Given the description of an element on the screen output the (x, y) to click on. 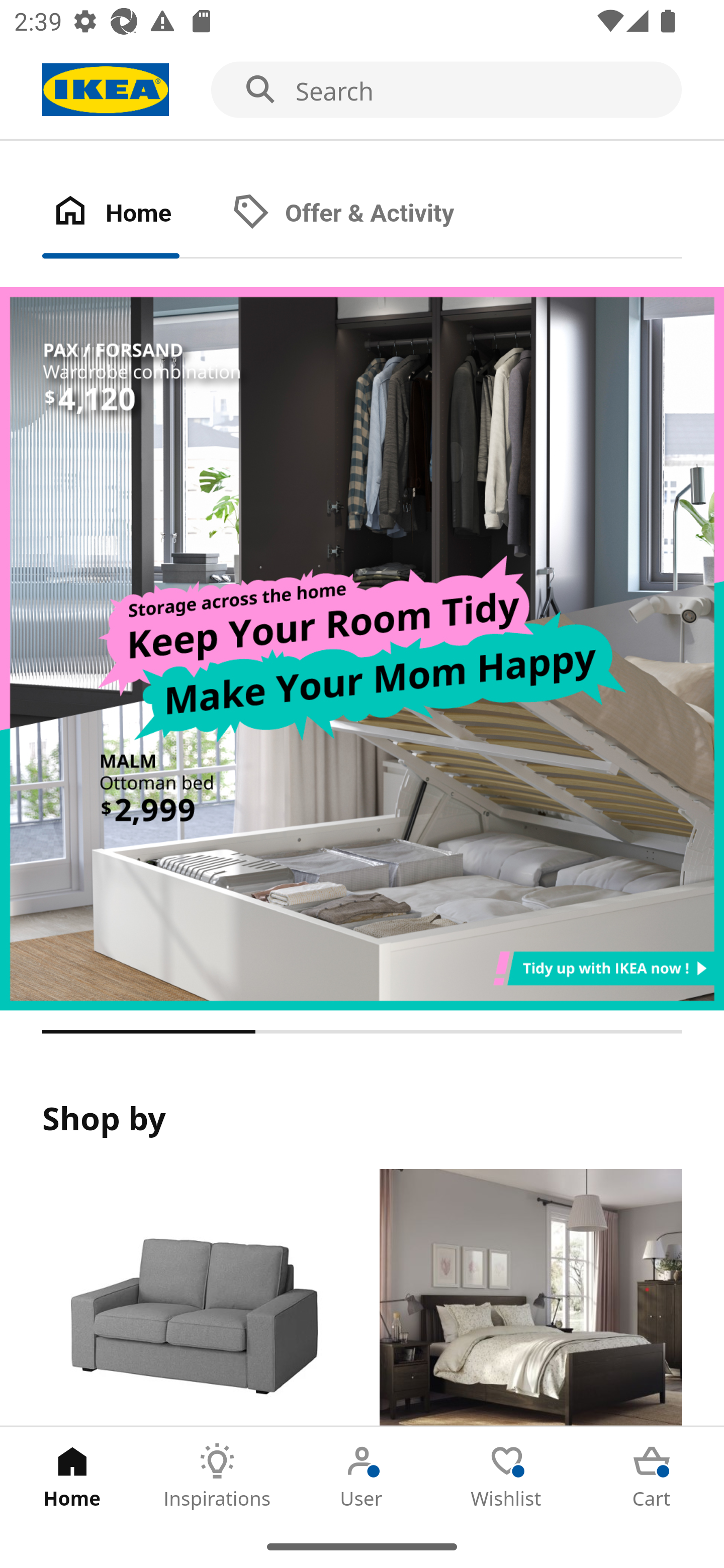
Search (361, 90)
Home
Tab 1 of 2 (131, 213)
Offer & Activity
Tab 2 of 2 (363, 213)
Products (192, 1297)
Rooms (530, 1297)
Home
Tab 1 of 5 (72, 1476)
Inspirations
Tab 2 of 5 (216, 1476)
User
Tab 3 of 5 (361, 1476)
Wishlist
Tab 4 of 5 (506, 1476)
Cart
Tab 5 of 5 (651, 1476)
